Given the description of an element on the screen output the (x, y) to click on. 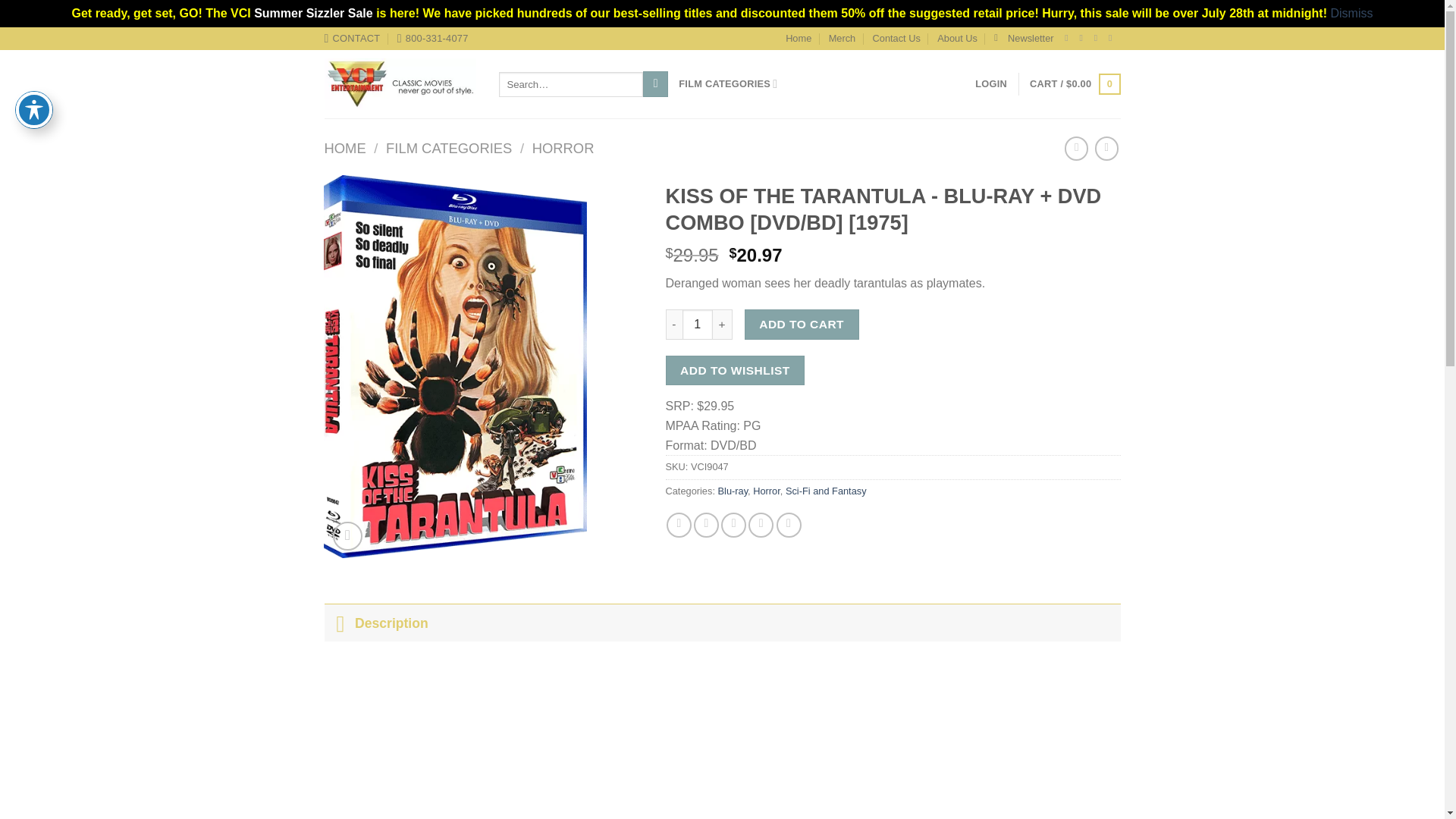
800-331-4077 (432, 38)
800-331-4077 (432, 38)
1 (697, 324)
Home (798, 38)
FILM CATEGORIES (727, 83)
Sign up for Newsletter (1023, 38)
CONTACT (352, 38)
Summer Sizzler Sale (312, 12)
Merch (842, 38)
Cart (1074, 84)
Login (991, 83)
Newsletter (1023, 38)
Search (655, 84)
Dismiss (1351, 12)
